Given the description of an element on the screen output the (x, y) to click on. 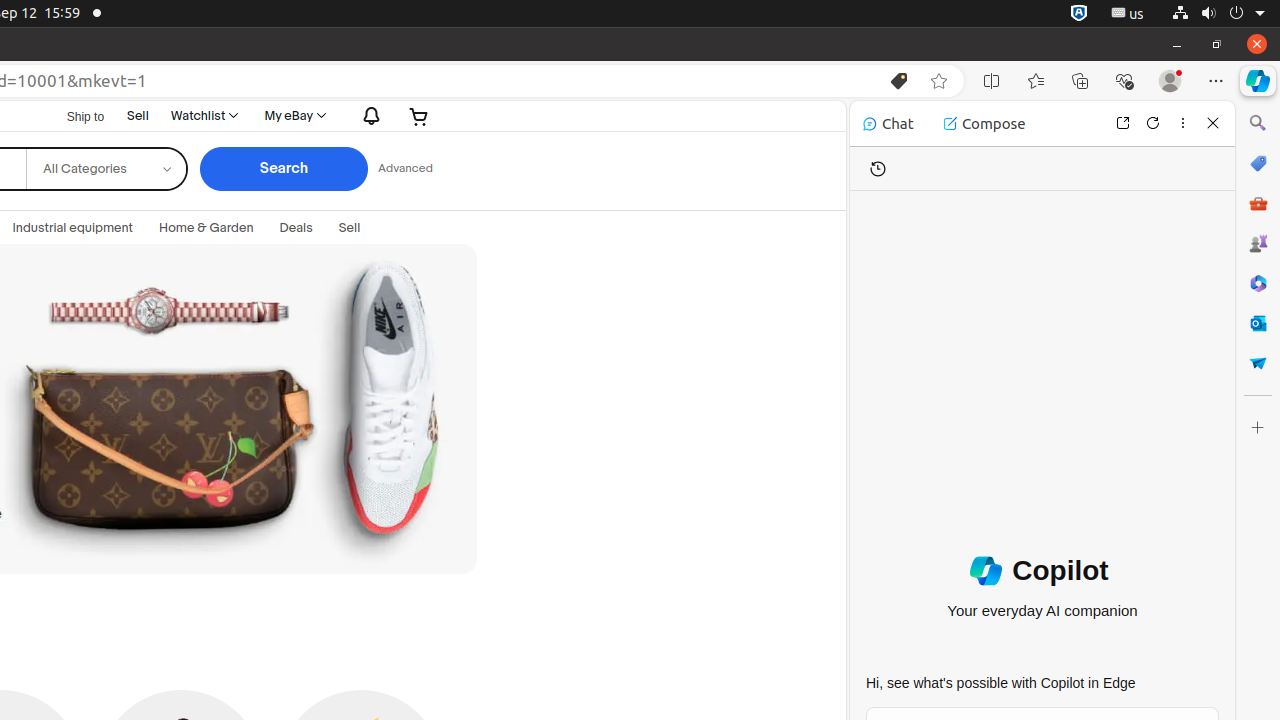
Chat Element type: page-tab (888, 124)
Load chat history Element type: push-button (878, 168)
Your shopping cart Element type: link (419, 116)
Open link in new tab Element type: push-button (1123, 122)
Microsoft 365 Element type: push-button (1258, 283)
